Given the description of an element on the screen output the (x, y) to click on. 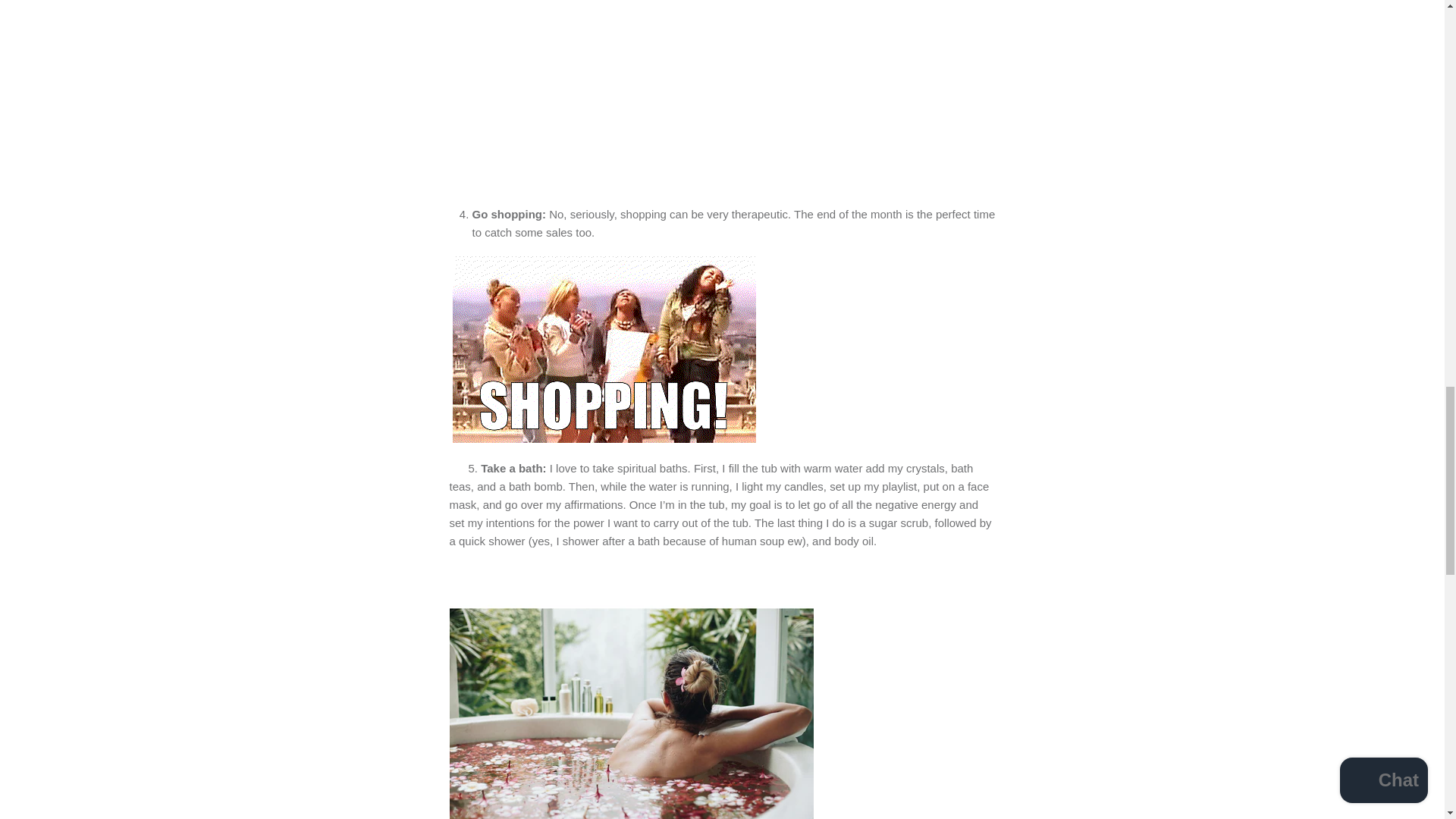
YouTube video player (683, 99)
